Given the description of an element on the screen output the (x, y) to click on. 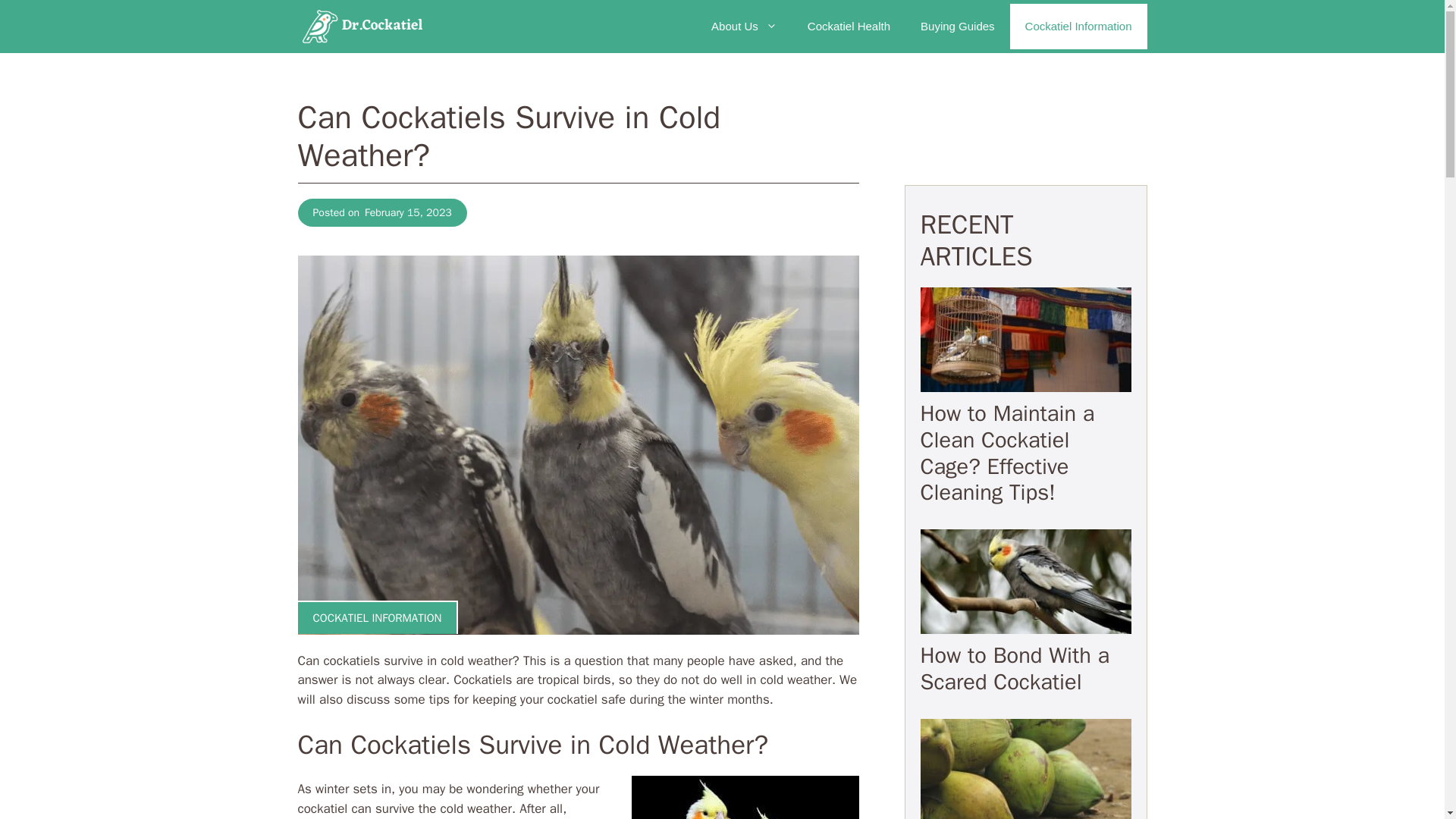
How to Bond With a Scared Cockatiel (1014, 668)
COCKATIEL INFORMATION (377, 617)
Cockatiel Health (848, 26)
Dr Cockatiel (363, 26)
Cockatiel Information (1078, 26)
About Us (743, 26)
Buying Guides (957, 26)
